Given the description of an element on the screen output the (x, y) to click on. 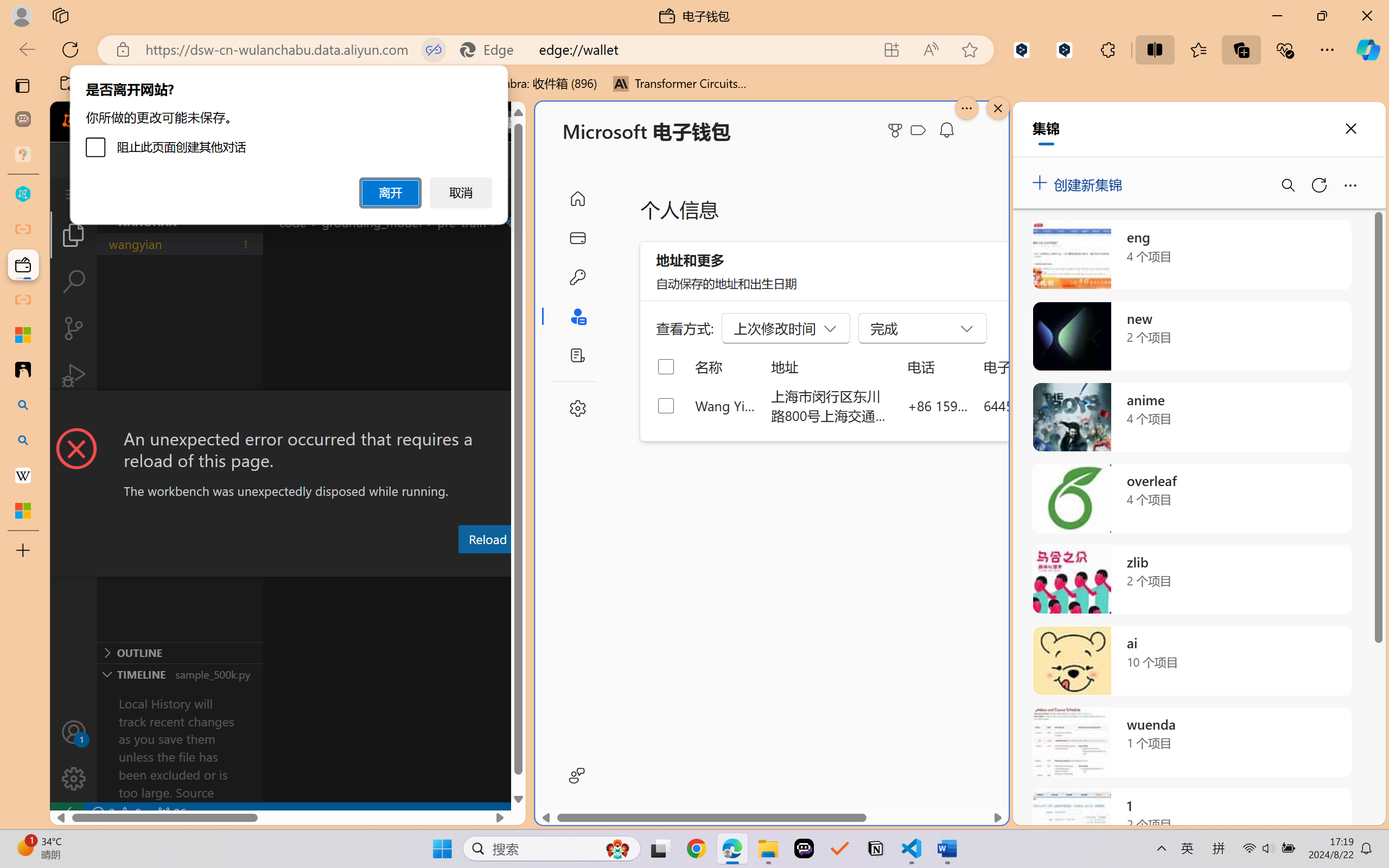
Manage (73, 778)
Outline Section (179, 652)
